Given the description of an element on the screen output the (x, y) to click on. 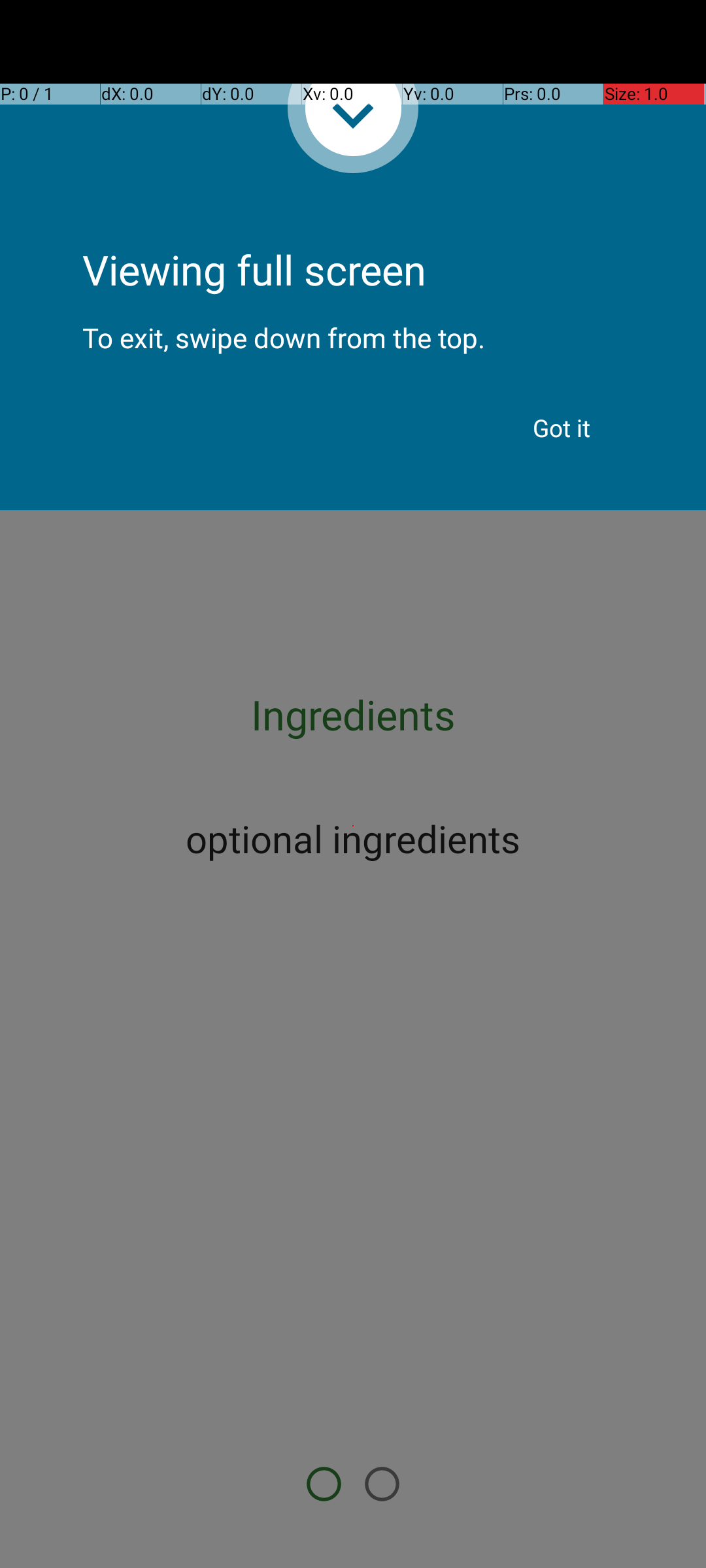
Viewing full screen Element type: android.widget.TextView (353, 235)
To exit, swipe down from the top. Element type: android.widget.TextView (353, 326)
Got it Element type: android.widget.Button (561, 427)
